Given the description of an element on the screen output the (x, y) to click on. 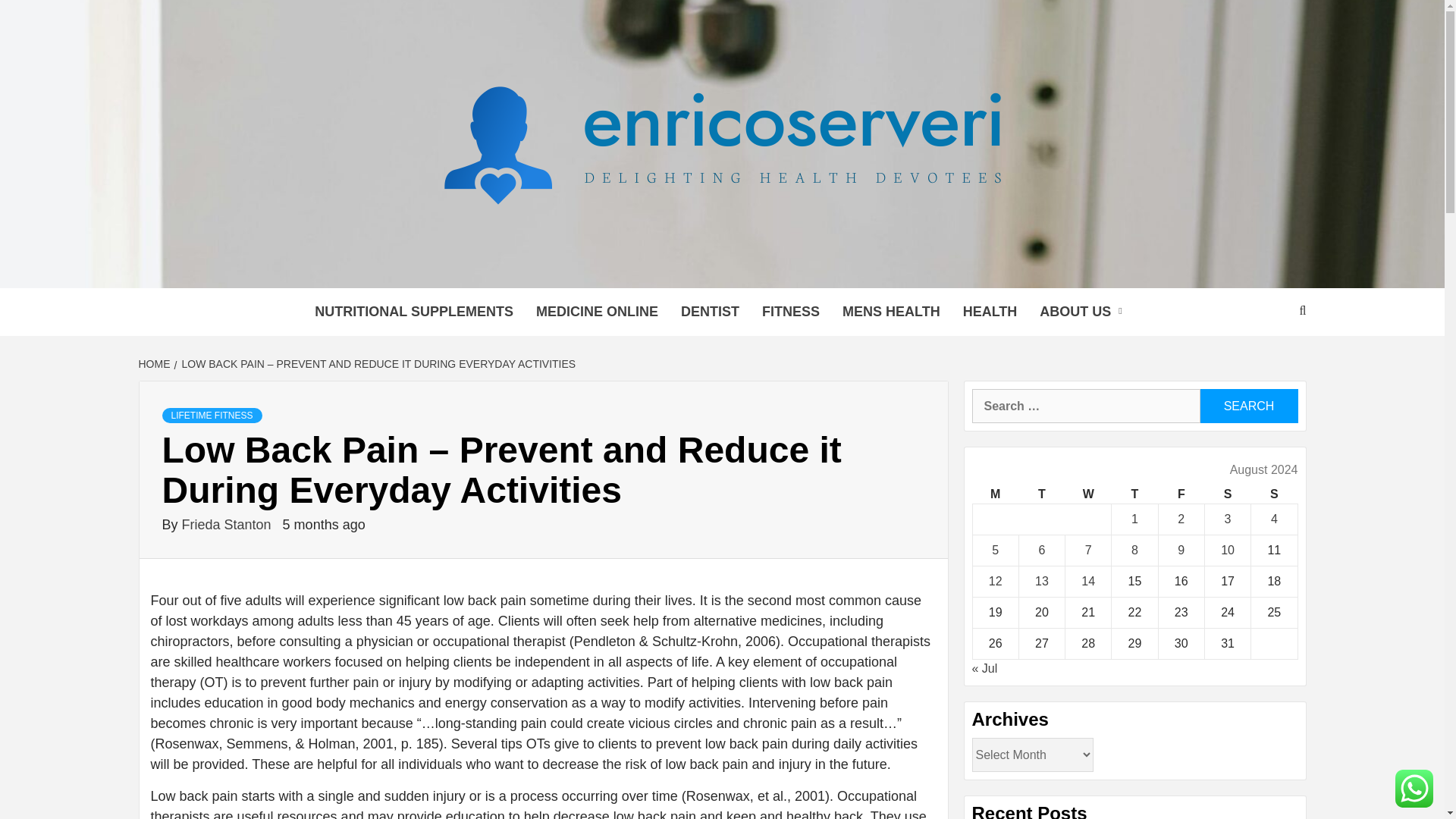
FITNESS (791, 311)
LIFETIME FITNESS (211, 415)
10 (1227, 549)
Saturday (1227, 494)
13 (1041, 581)
Search (1248, 406)
DENTIST (710, 311)
Search (1248, 406)
Search (1248, 406)
HEALTH (990, 311)
